Given the description of an element on the screen output the (x, y) to click on. 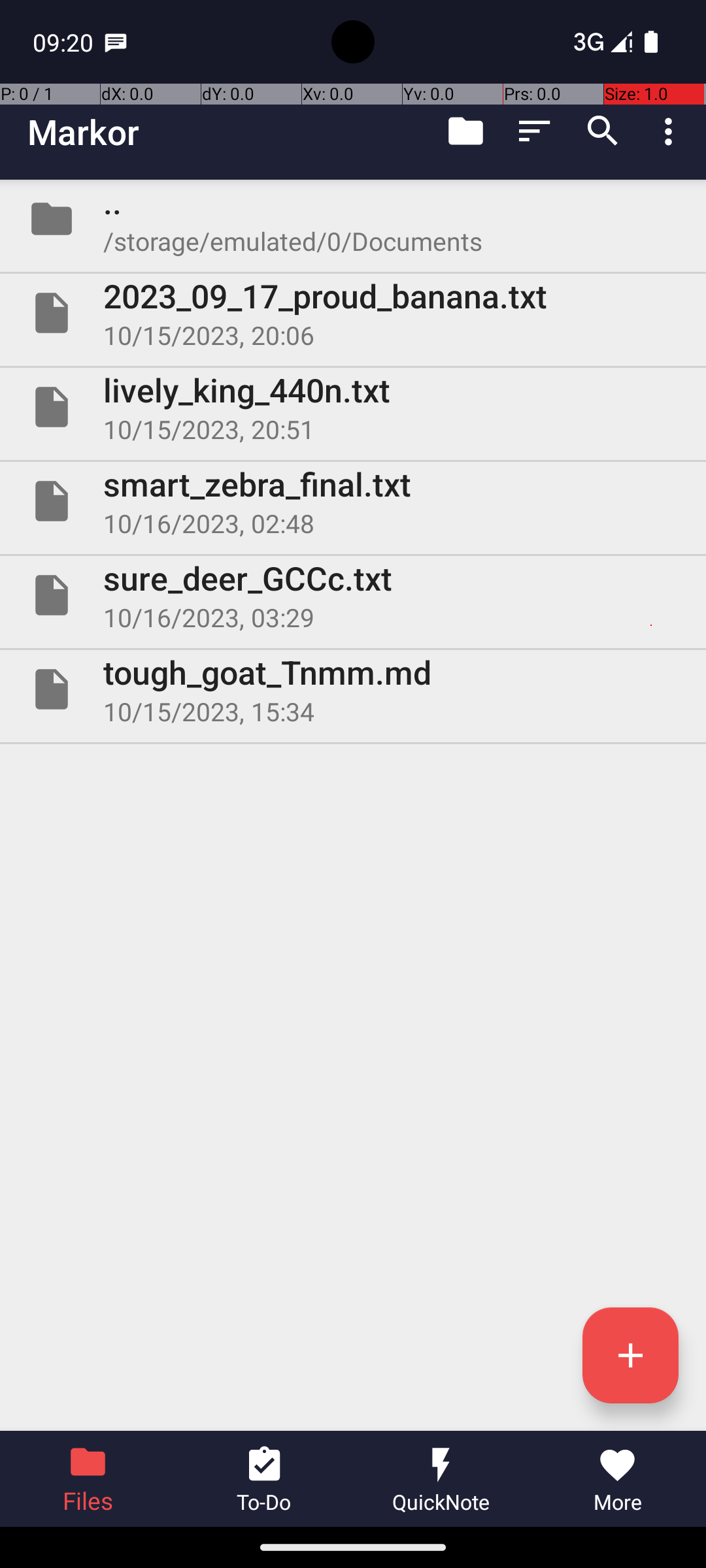
File 2023_09_17_proud_banana.txt  Element type: android.widget.LinearLayout (353, 312)
File lively_king_440n.txt  Element type: android.widget.LinearLayout (353, 406)
File smart_zebra_final.txt  Element type: android.widget.LinearLayout (353, 500)
File sure_deer_GCCc.txt  Element type: android.widget.LinearLayout (353, 594)
File tough_goat_Tnmm.md  Element type: android.widget.LinearLayout (353, 689)
09:20 Element type: android.widget.TextView (64, 41)
